Given the description of an element on the screen output the (x, y) to click on. 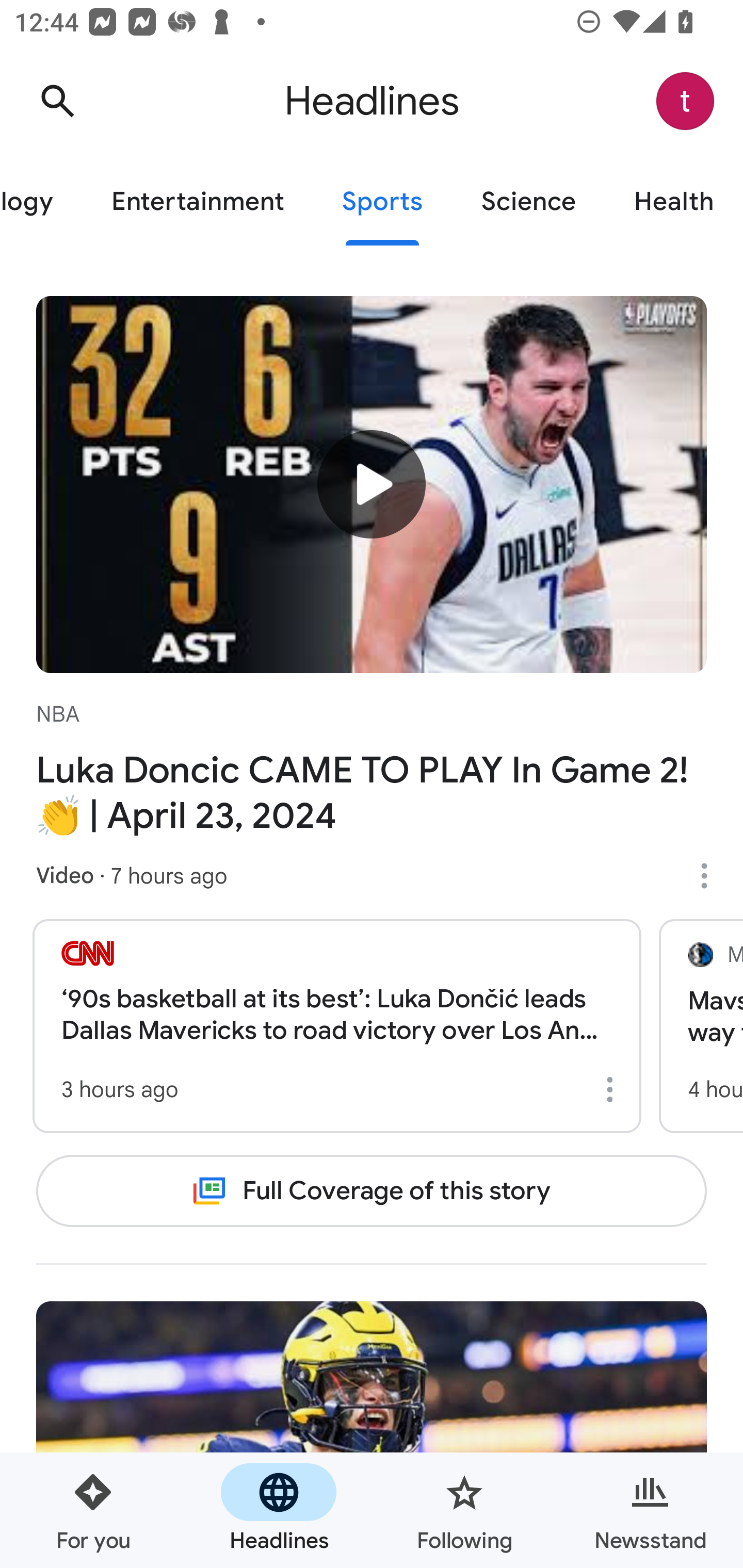
Search (57, 100)
Technology (40, 202)
Entertainment (197, 202)
Science (527, 202)
Health (673, 202)
Play (371, 483)
More options (711, 875)
More options (613, 1089)
Full Coverage of this story (371, 1191)
For you (92, 1509)
Headlines (278, 1509)
Following (464, 1509)
Newsstand (650, 1509)
